Given the description of an element on the screen output the (x, y) to click on. 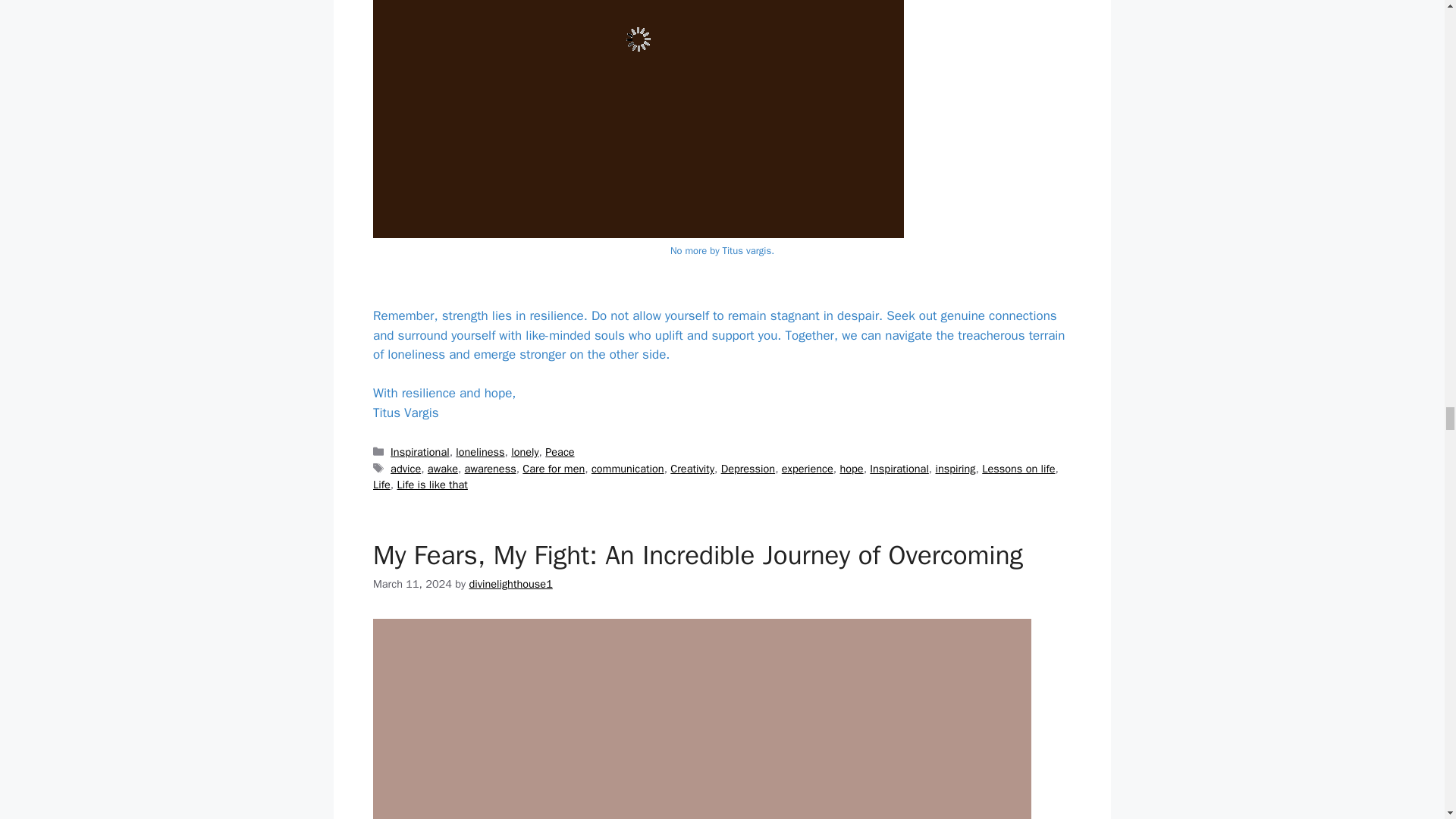
View all posts by divinelighthouse1 (509, 583)
